Given the description of an element on the screen output the (x, y) to click on. 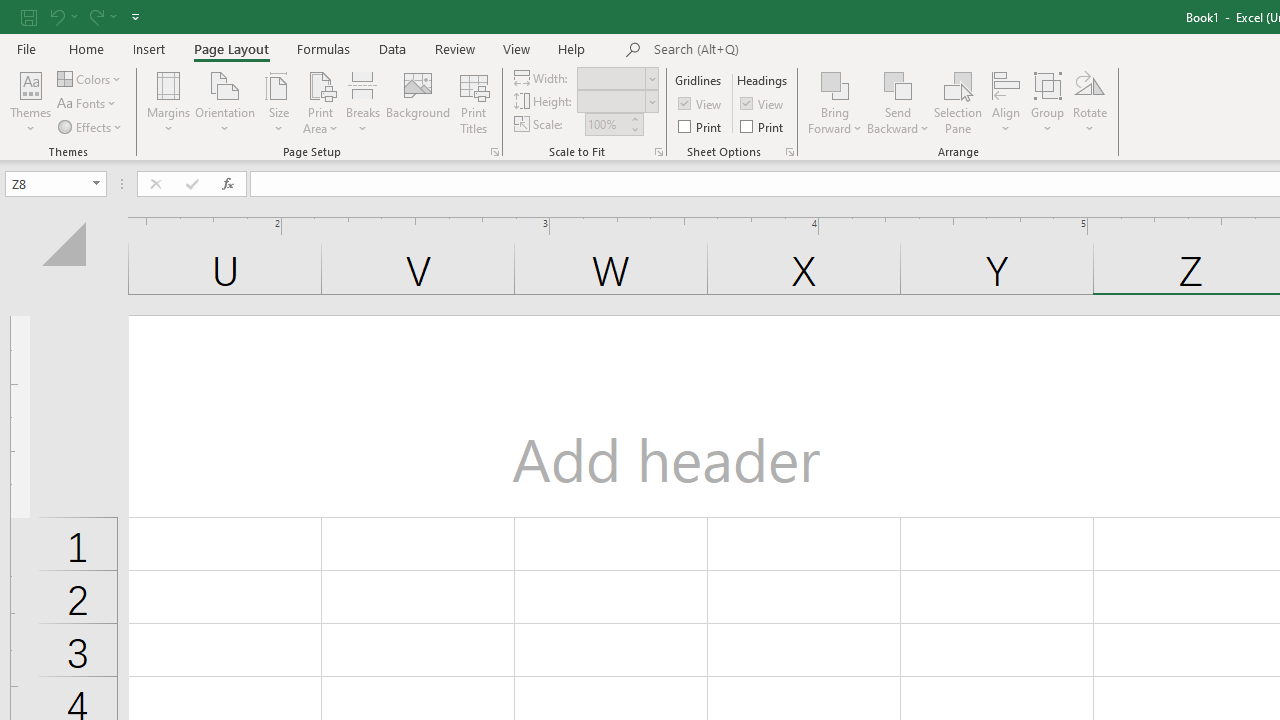
Align (1005, 102)
Orientation (225, 102)
Print Area (320, 102)
Height (618, 101)
Height (611, 101)
Colors (90, 78)
Less (633, 129)
